Given the description of an element on the screen output the (x, y) to click on. 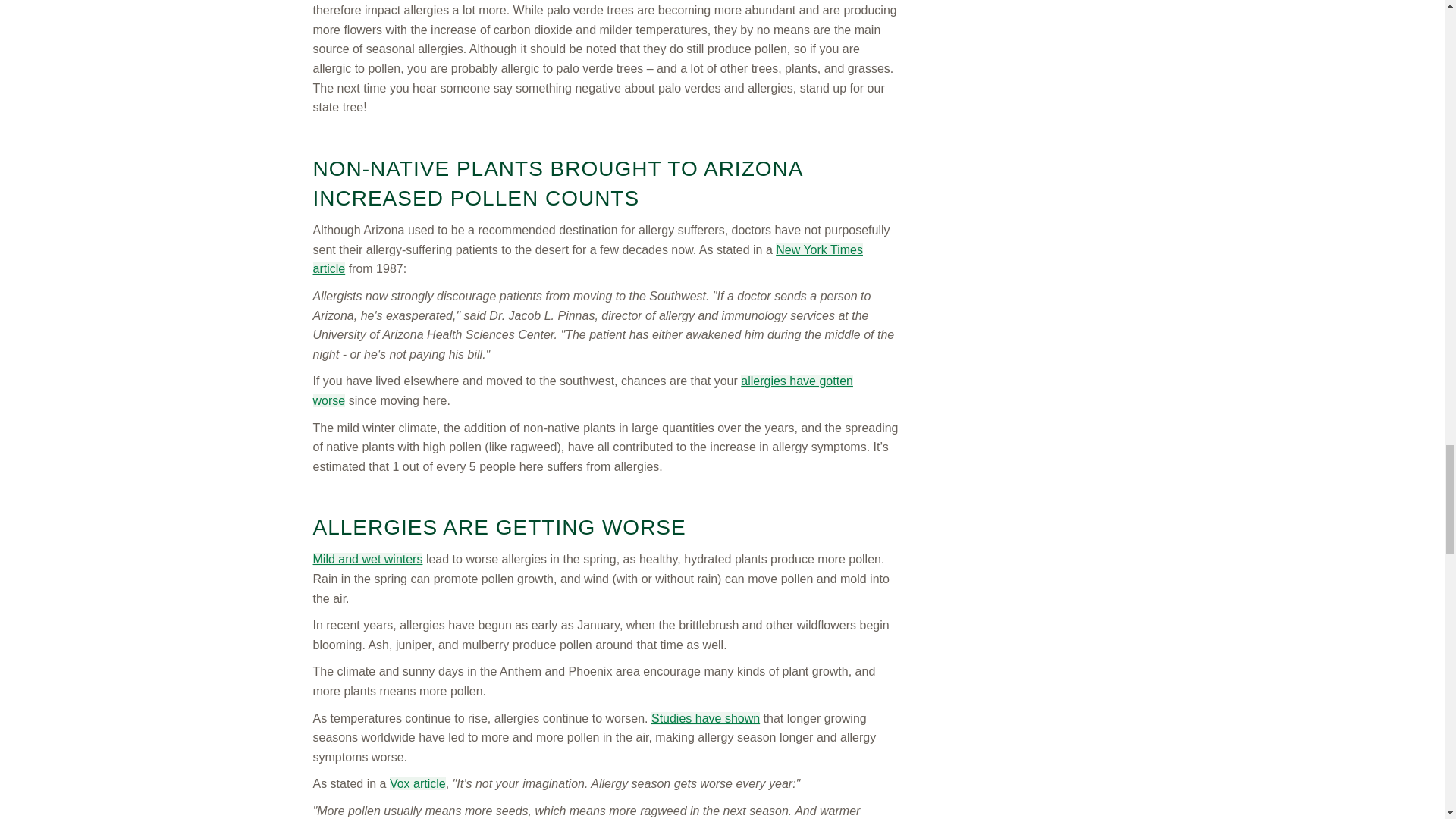
New York Times article (587, 259)
current allergies in Arizona (582, 390)
Studies on allergies (705, 717)
Conditions that lead to worse allergies (367, 558)
